Given the description of an element on the screen output the (x, y) to click on. 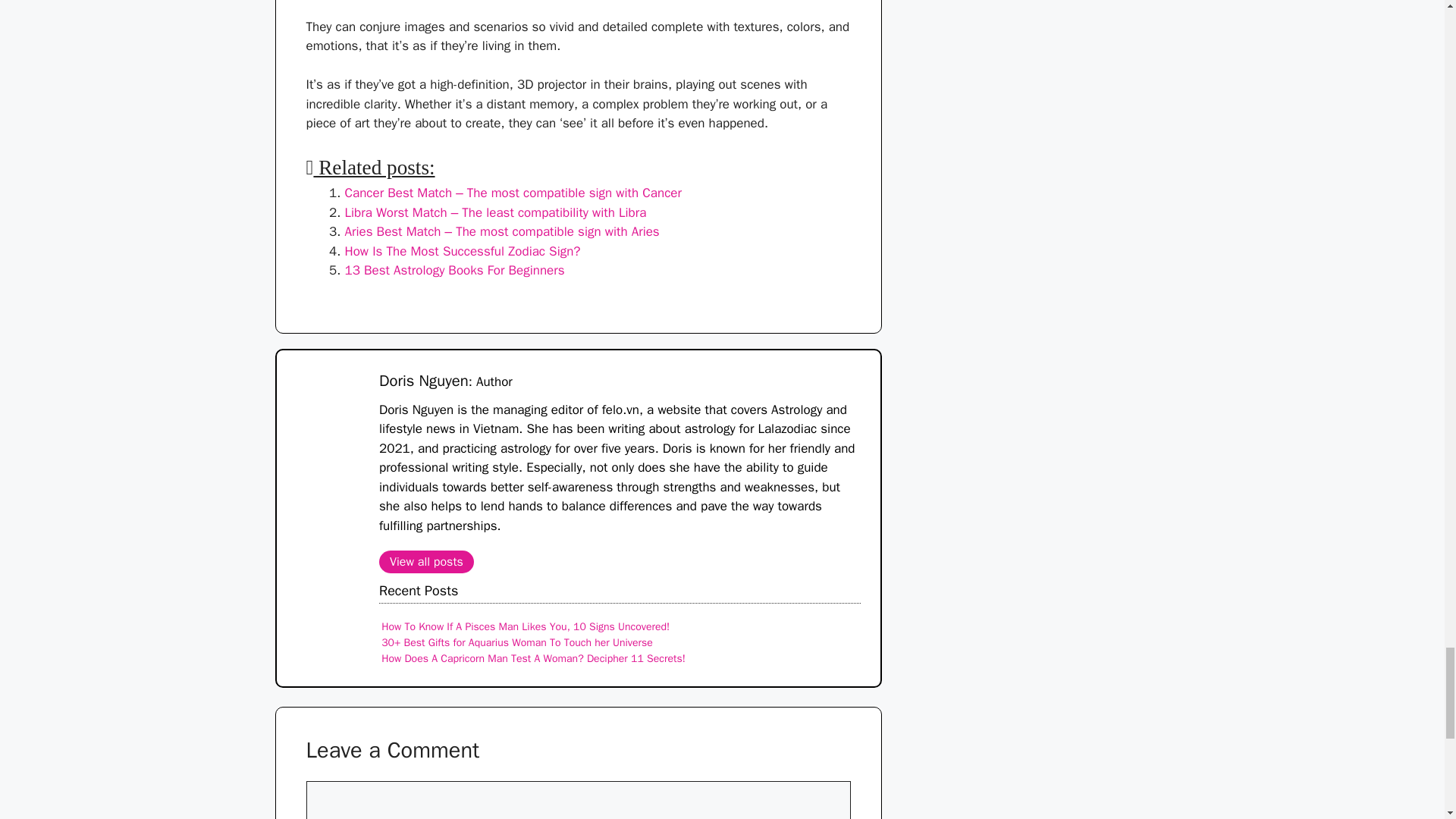
How To Know If A Pisces Man Likes You, 10 Signs Uncovered! (525, 626)
13 Best Astrology Books For Beginners (453, 270)
How Does A Capricorn Man Test A Woman? Decipher 11 Secrets! (533, 658)
Doris Nguyen (423, 380)
How Is The Most Successful Zodiac Sign? (461, 251)
View all posts (426, 561)
